Given the description of an element on the screen output the (x, y) to click on. 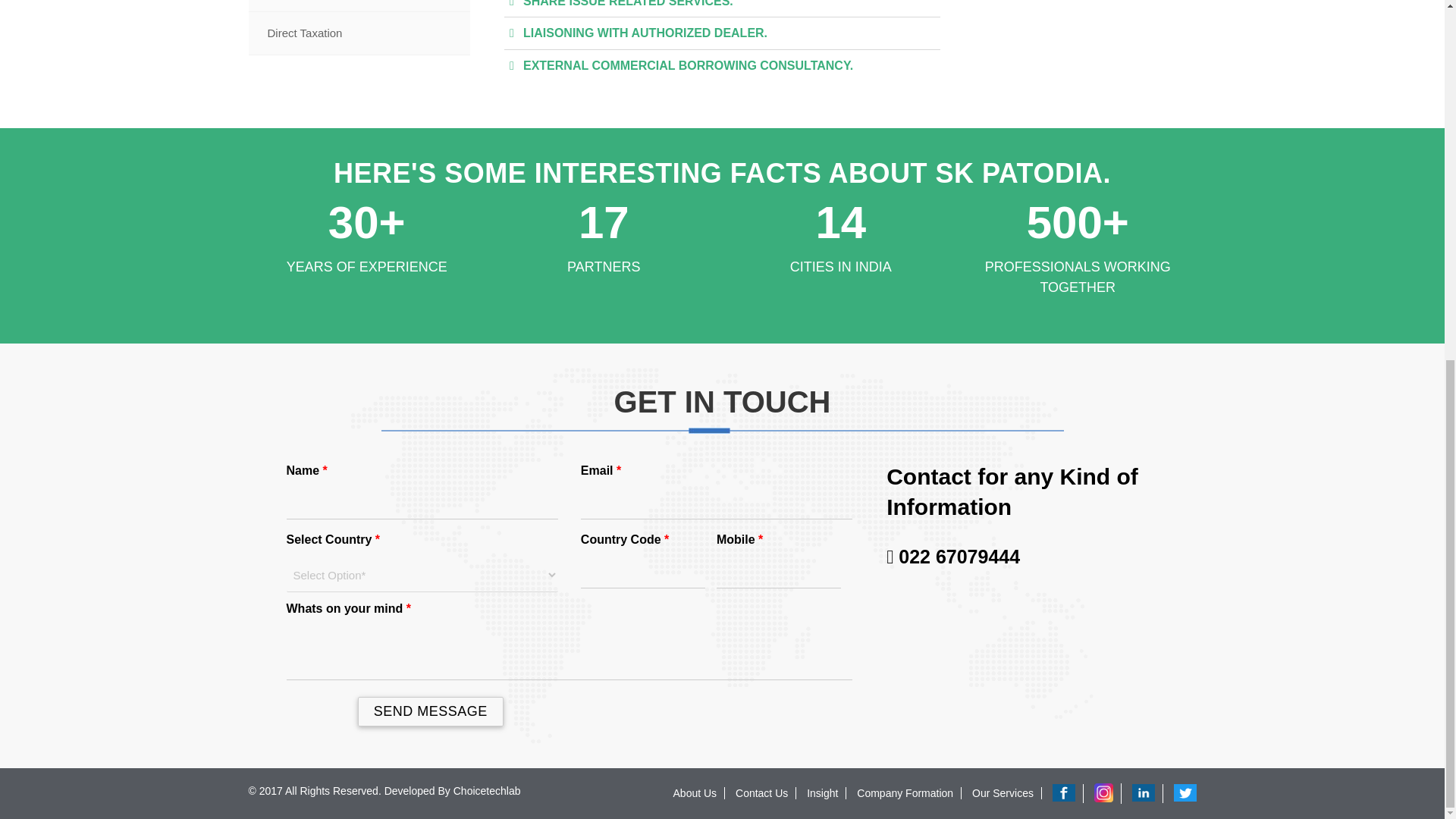
Linkedin (1143, 792)
Twitter (1184, 792)
Instagram (1103, 792)
Facebook (1063, 792)
SEND MESSAGE (430, 711)
